Given the description of an element on the screen output the (x, y) to click on. 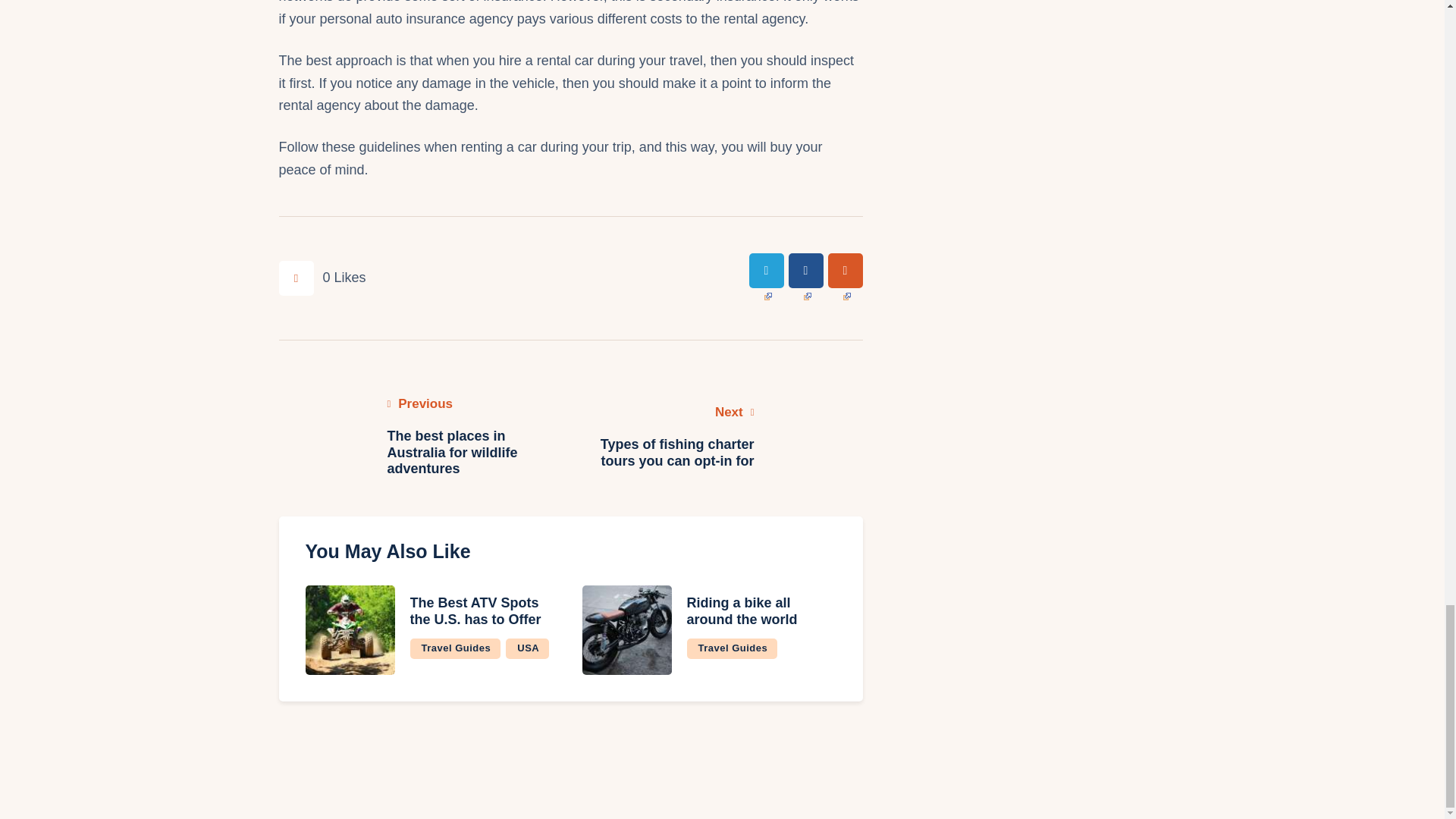
Like (322, 278)
